Given the description of an element on the screen output the (x, y) to click on. 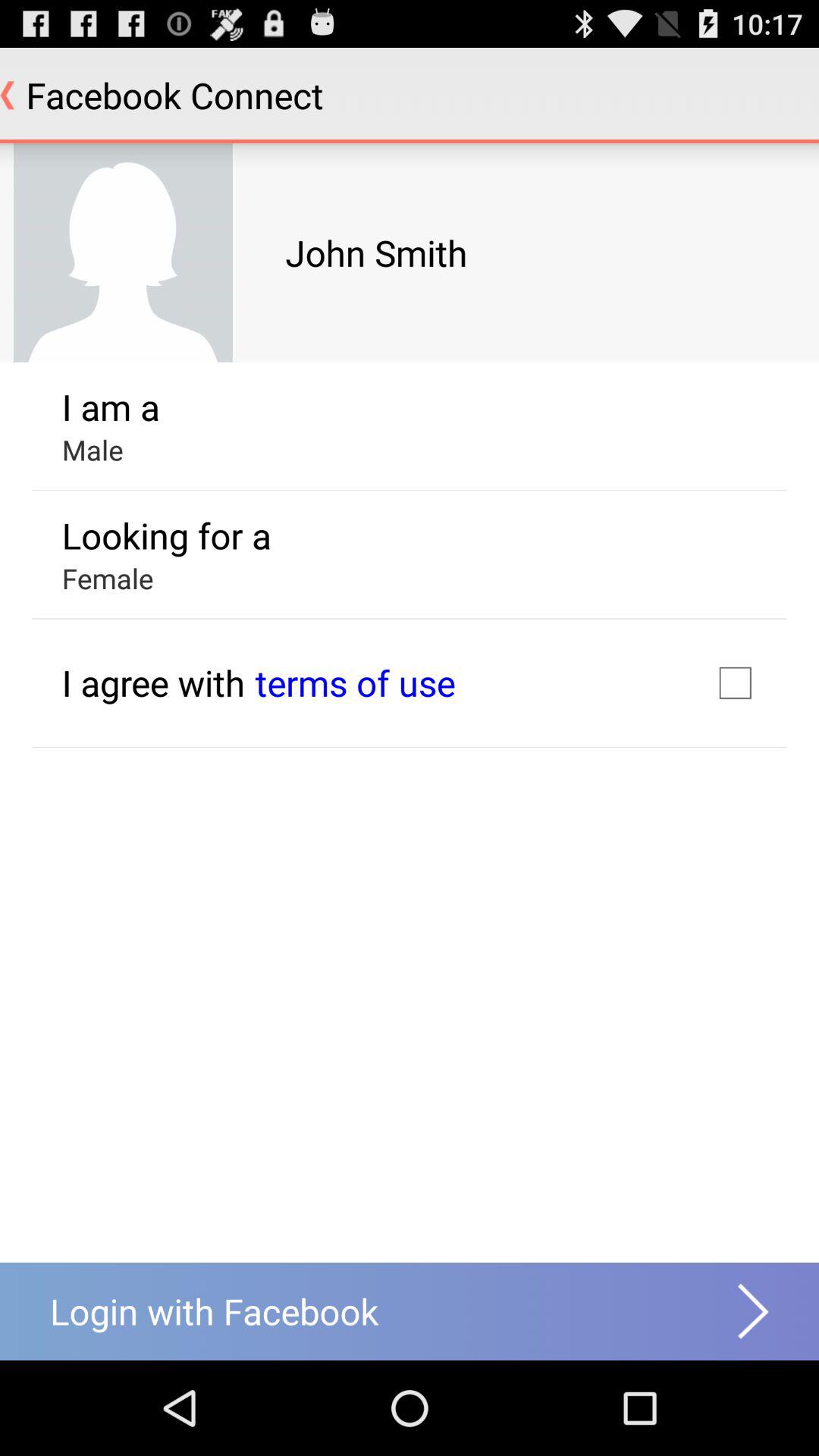
tap the item below looking for a item (355, 682)
